Given the description of an element on the screen output the (x, y) to click on. 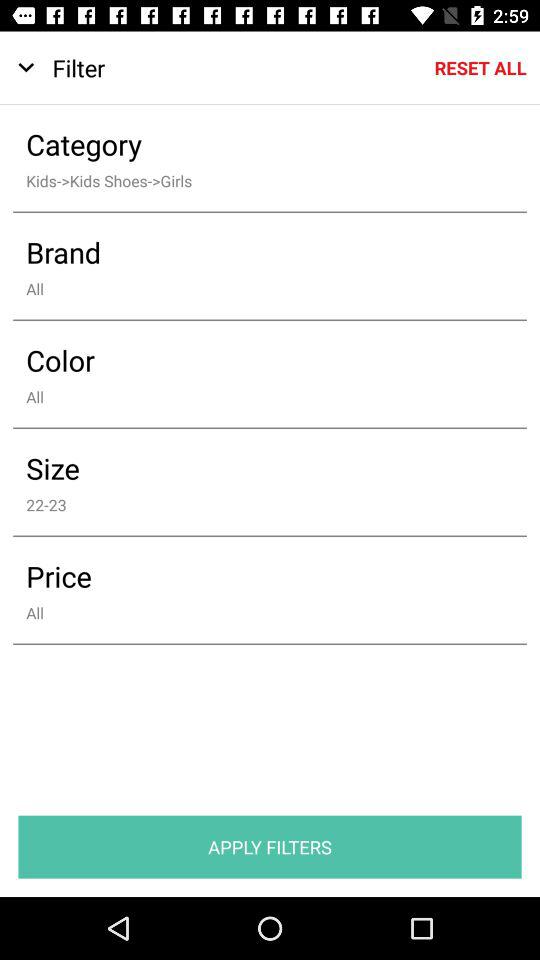
turn off the color item (256, 359)
